Given the description of an element on the screen output the (x, y) to click on. 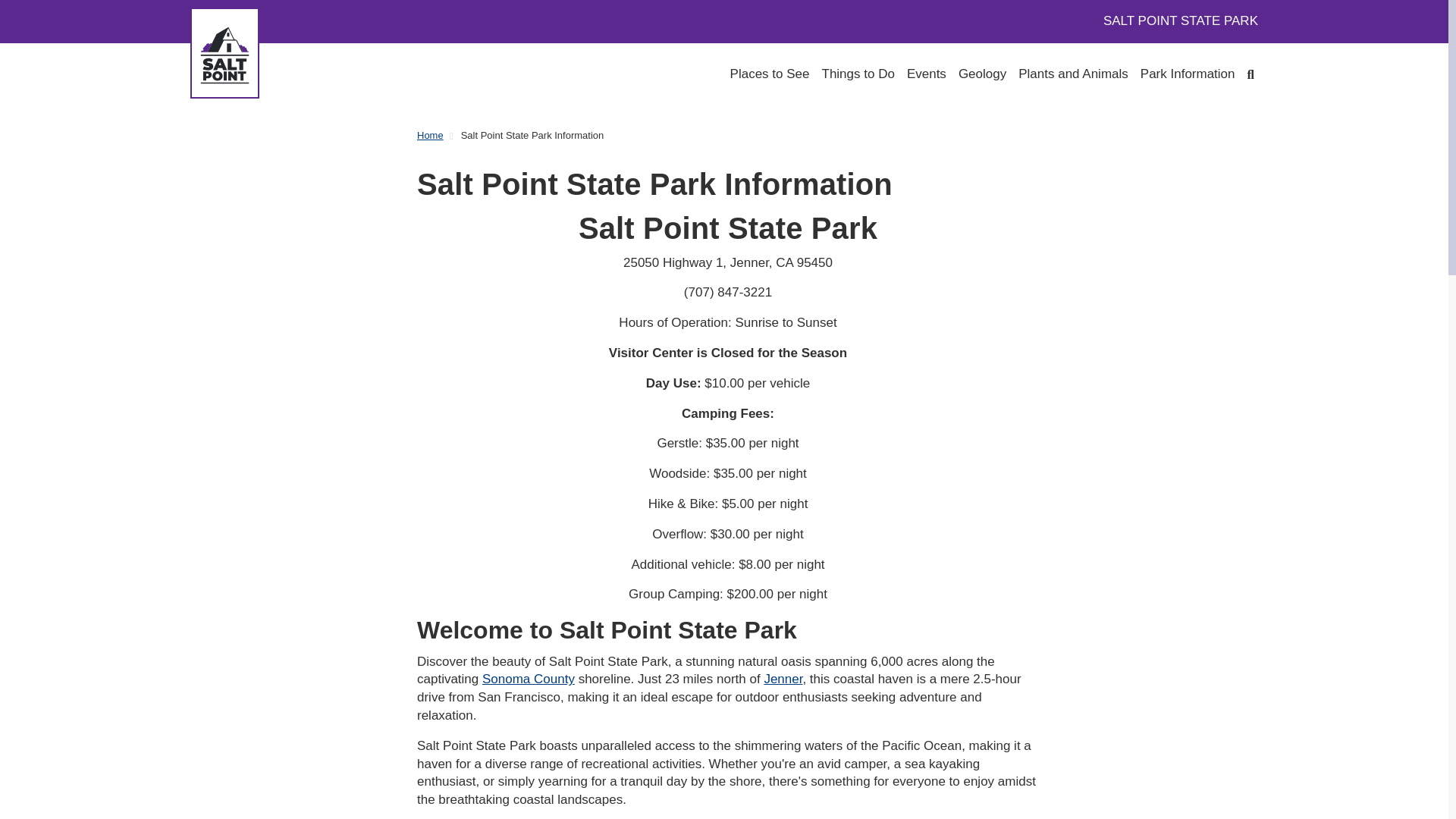
Events (926, 73)
Home (438, 135)
Jenner (782, 678)
Geology (982, 73)
Places to See (769, 73)
Sonoma County (528, 678)
Plants and Animals (1072, 73)
Park Information (1187, 73)
Things to Do (858, 73)
